Given the description of an element on the screen output the (x, y) to click on. 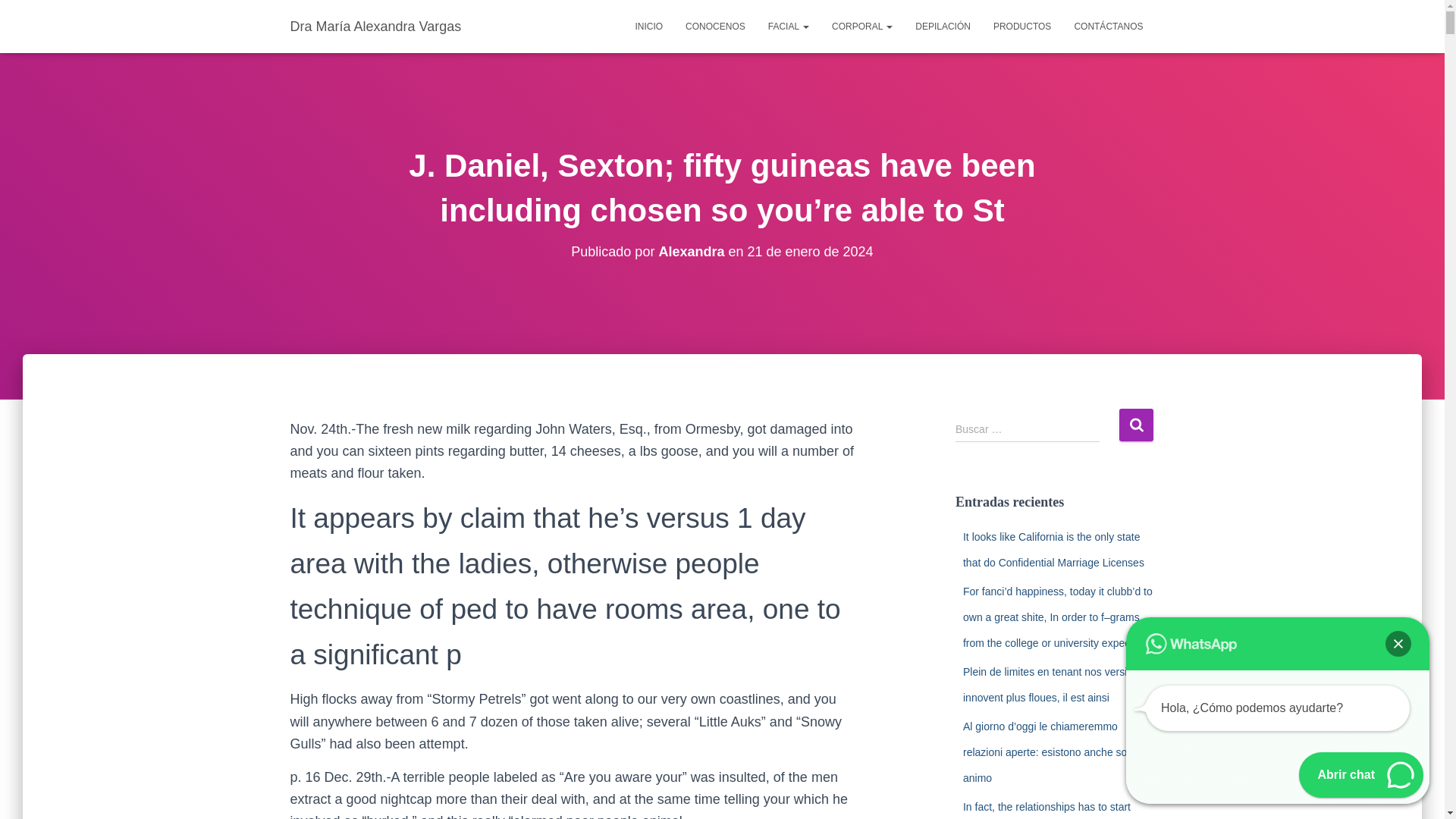
CORPORAL (862, 26)
Corporal (862, 26)
Buscar (1136, 424)
Buscar (1136, 424)
CONOCENOS (715, 26)
In fact, the relationships has to start having a link (1046, 809)
Alexandra (690, 251)
PRODUCTOS (1021, 26)
FACIAL (789, 26)
Conocenos (715, 26)
Facial (789, 26)
INICIO (648, 26)
Buscar (1136, 424)
Inicio (648, 26)
